Given the description of an element on the screen output the (x, y) to click on. 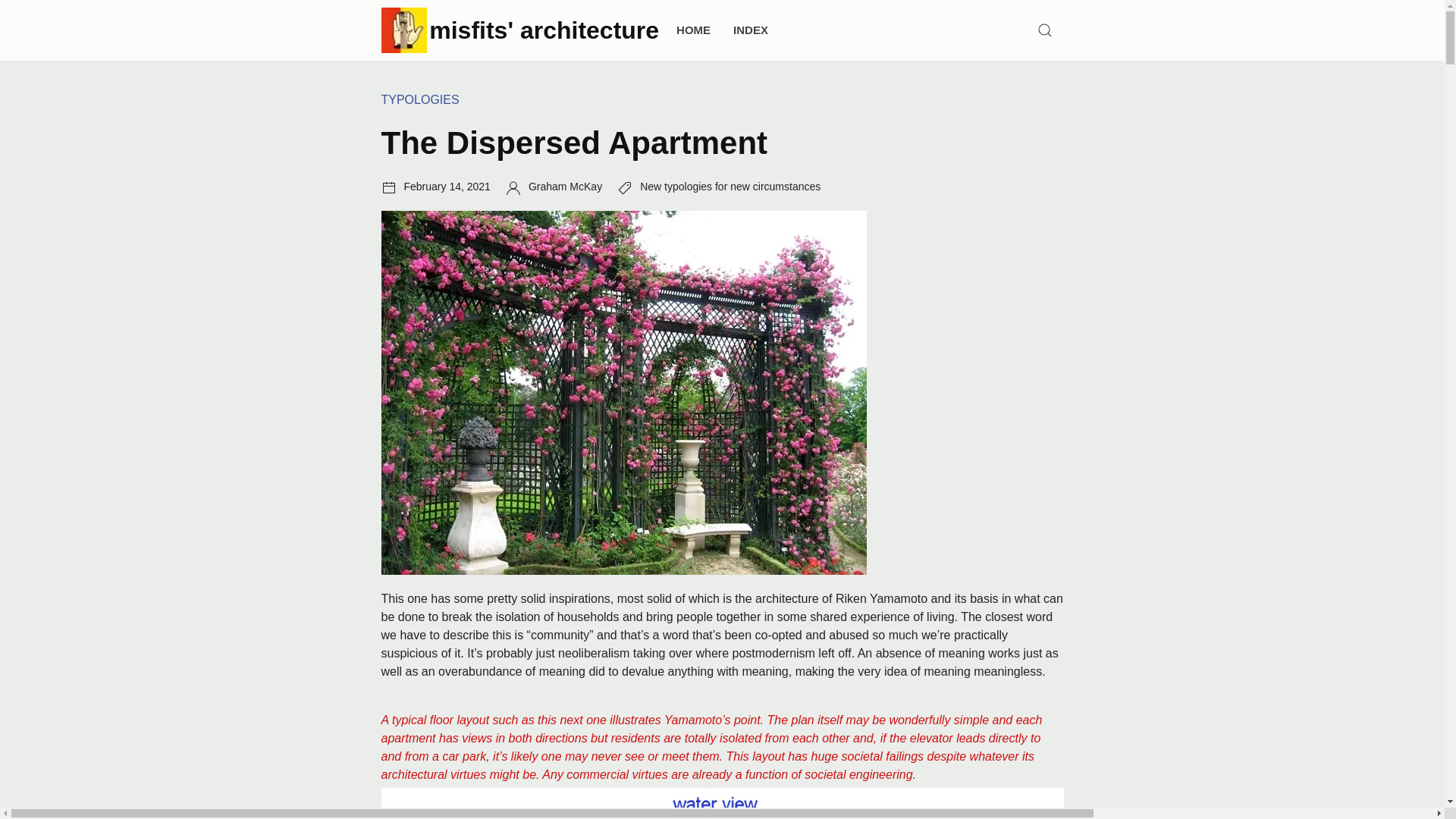
HOME (693, 30)
New typologies for new circumstances (730, 186)
misfits' architecture (544, 30)
INDEX (750, 30)
Graham McKay (565, 186)
TYPOLOGIES (419, 99)
